Given the description of an element on the screen output the (x, y) to click on. 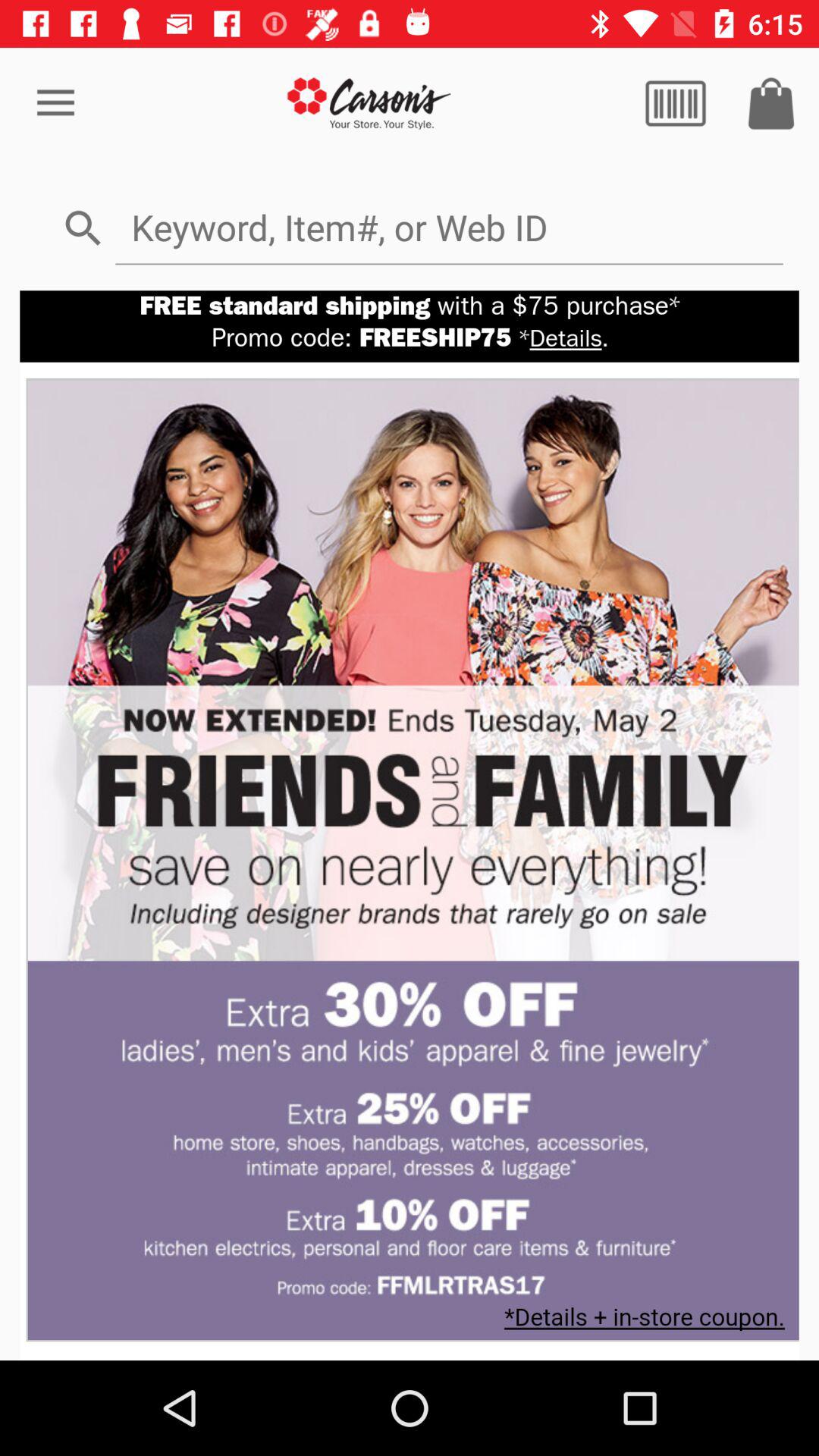
go back (369, 103)
